Given the description of an element on the screen output the (x, y) to click on. 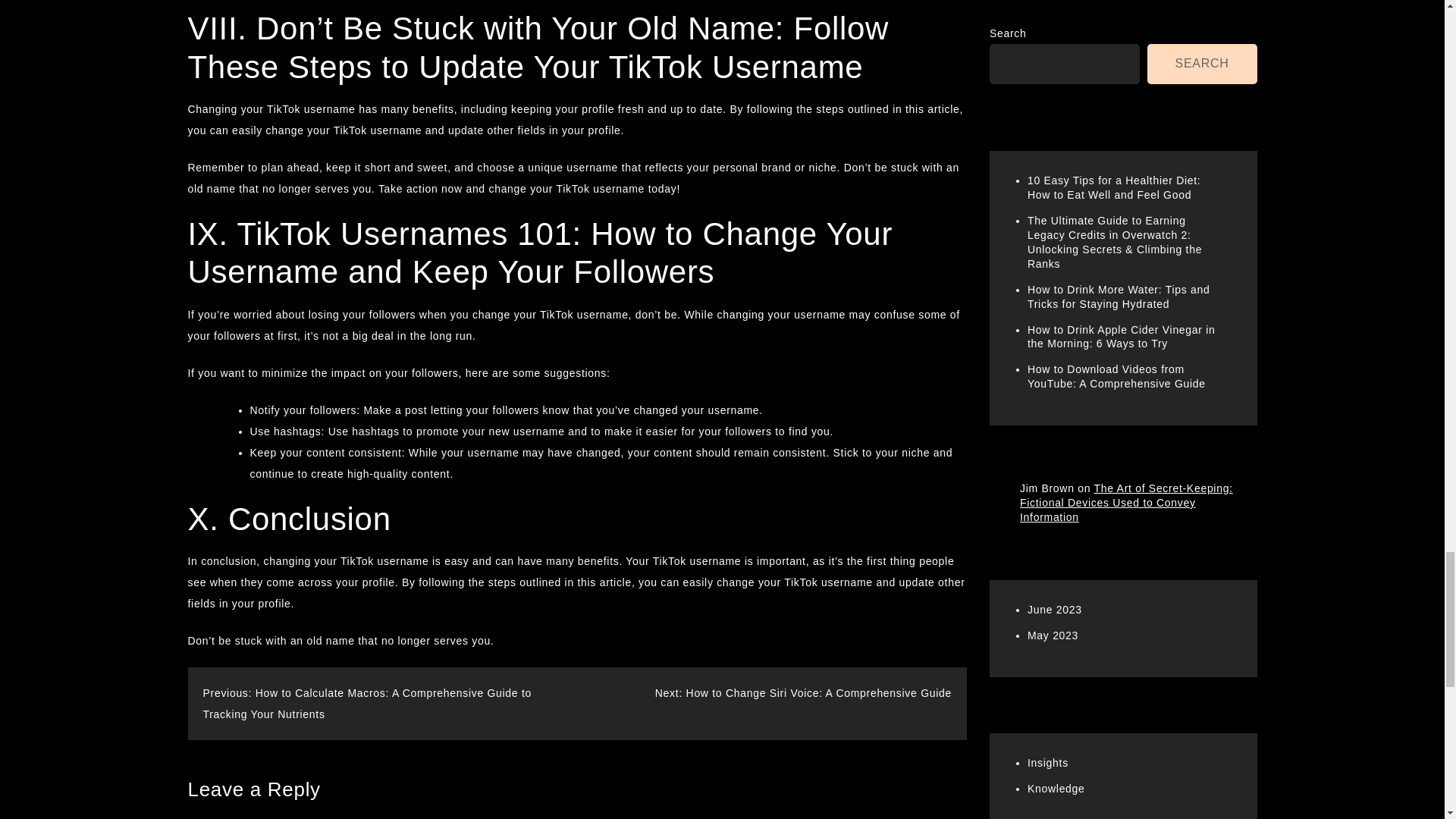
Next: How to Change Siri Voice: A Comprehensive Guide (803, 693)
